Given the description of an element on the screen output the (x, y) to click on. 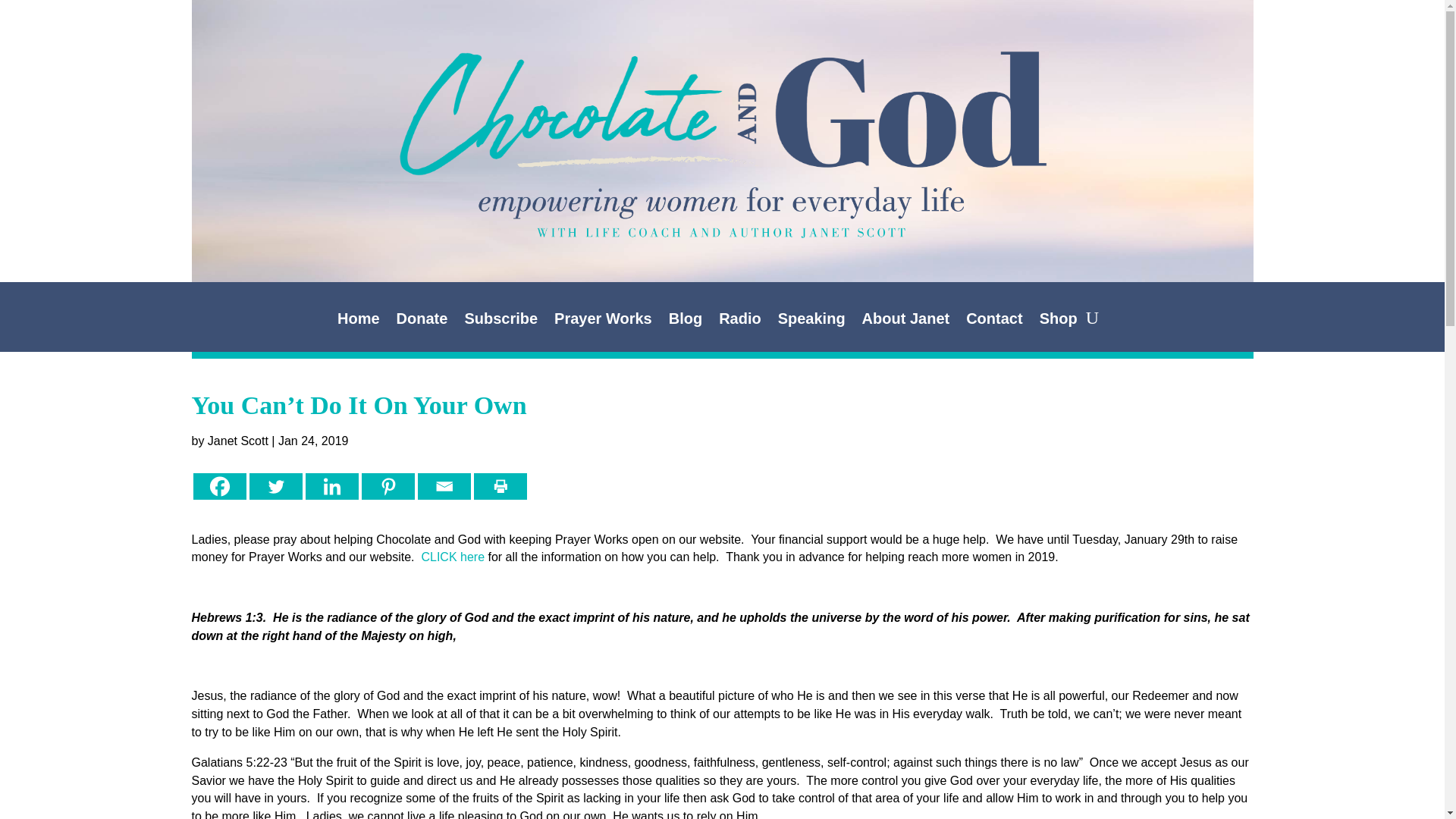
Prayer Works (603, 321)
About Janet (905, 321)
Pinterest (387, 486)
Home (358, 321)
Shop (1058, 321)
Posts by Janet Scott (237, 440)
CLICK here (452, 556)
Subscribe (500, 321)
Blog (684, 321)
Email (443, 486)
